Given the description of an element on the screen output the (x, y) to click on. 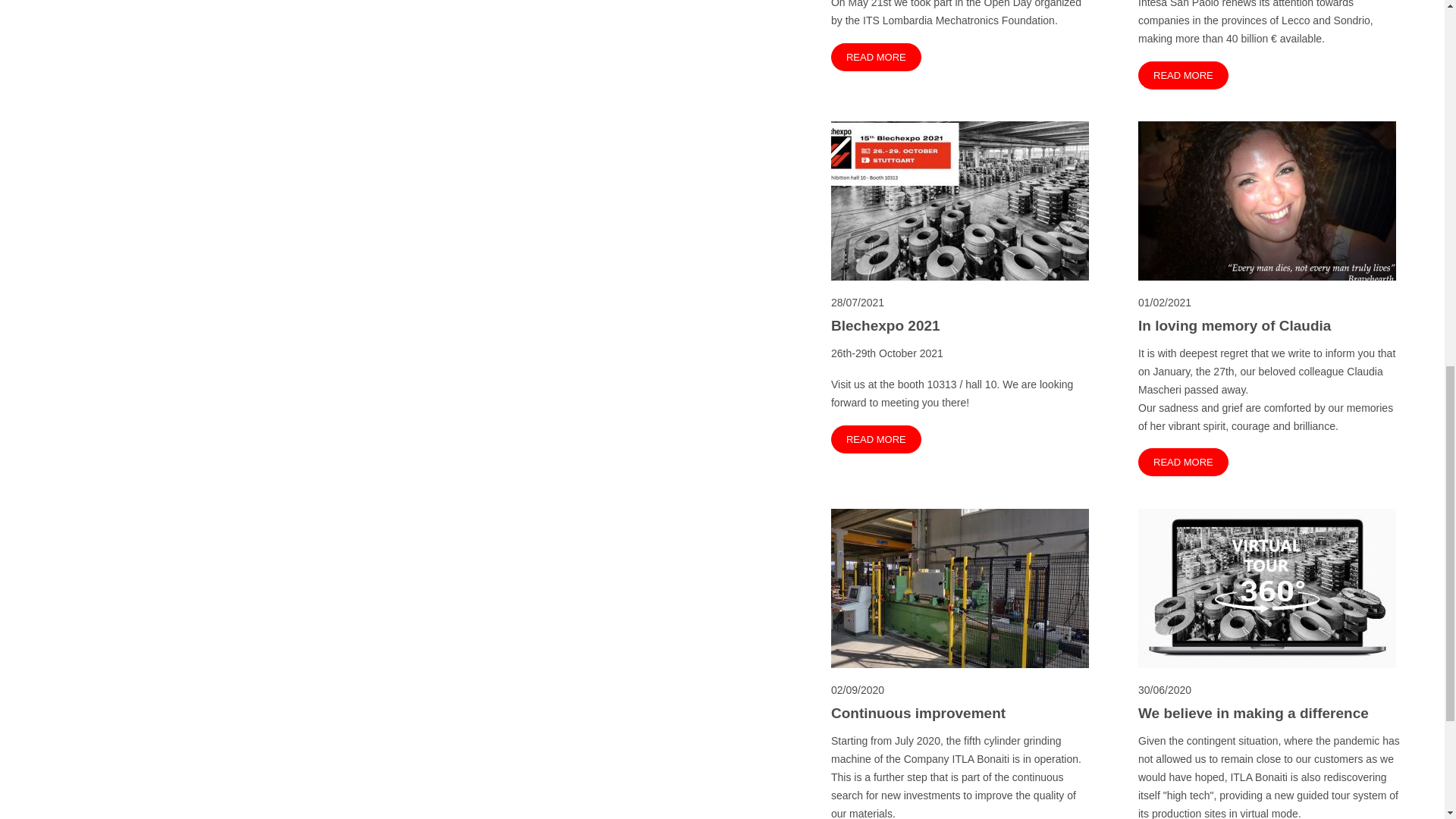
In loving memory of Claudia (1269, 325)
We believe in making a difference (1269, 712)
READ MORE (876, 439)
READ MORE (876, 56)
Blechexpo 2021 (962, 325)
Continuous improvement (962, 712)
READ MORE (1183, 74)
READ MORE (1183, 461)
